Given the description of an element on the screen output the (x, y) to click on. 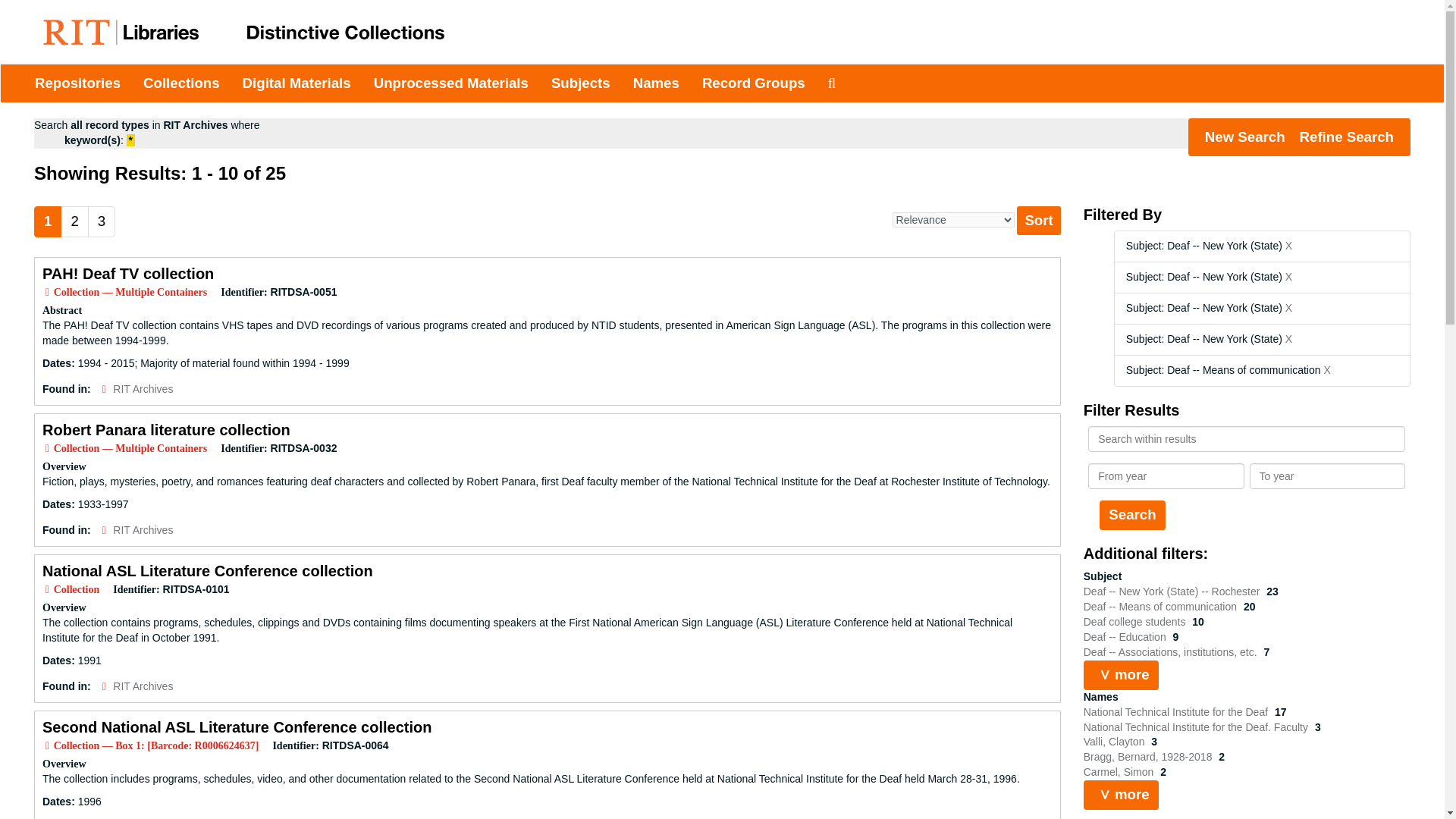
Sort (1037, 220)
RIT Archives (143, 530)
Refine Search (1346, 136)
Subjects (580, 83)
Digital Materials (296, 83)
National ASL Literature Conference collection (207, 570)
Repositories (77, 83)
Filter By 'Deaf -- Means of communication' (1161, 606)
New Search (1244, 136)
Names (655, 83)
